Given the description of an element on the screen output the (x, y) to click on. 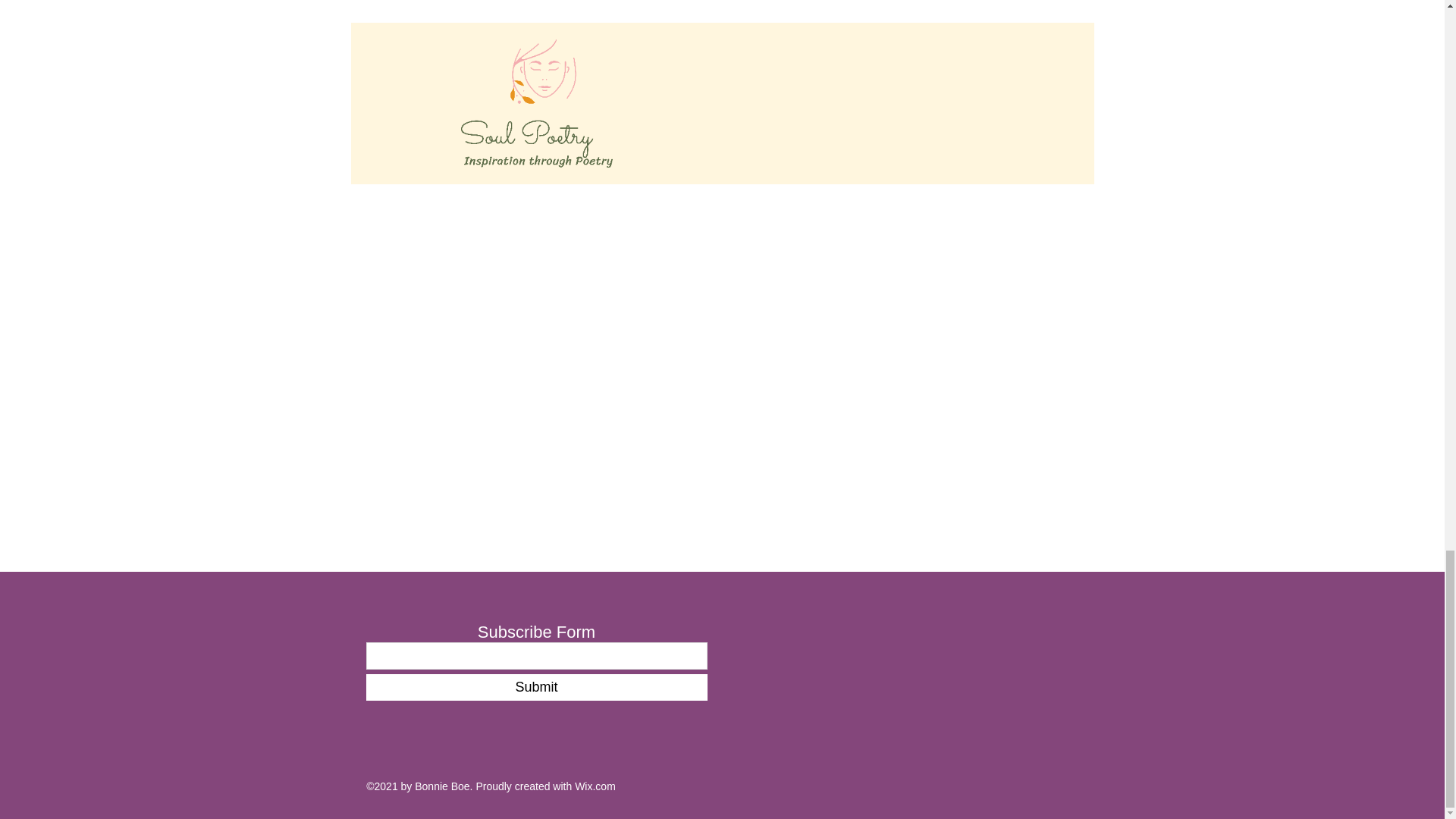
Submit (535, 687)
